Given the description of an element on the screen output the (x, y) to click on. 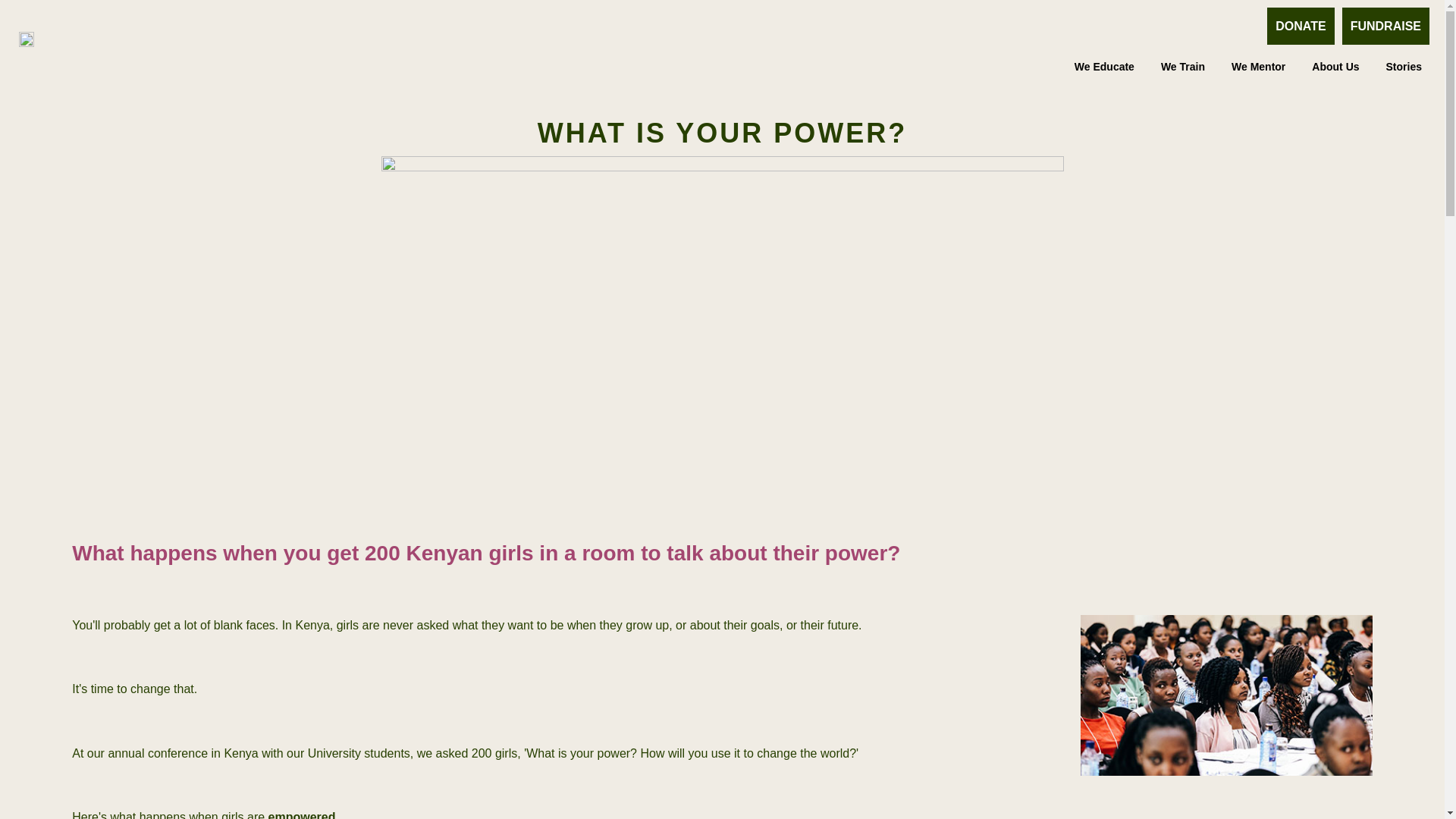
We Educate (1104, 66)
We Train (1182, 66)
FUNDRAISE (1385, 26)
Stories (1403, 66)
We Mentor (1258, 66)
About Us (1335, 66)
DONATE (1299, 26)
